Given the description of an element on the screen output the (x, y) to click on. 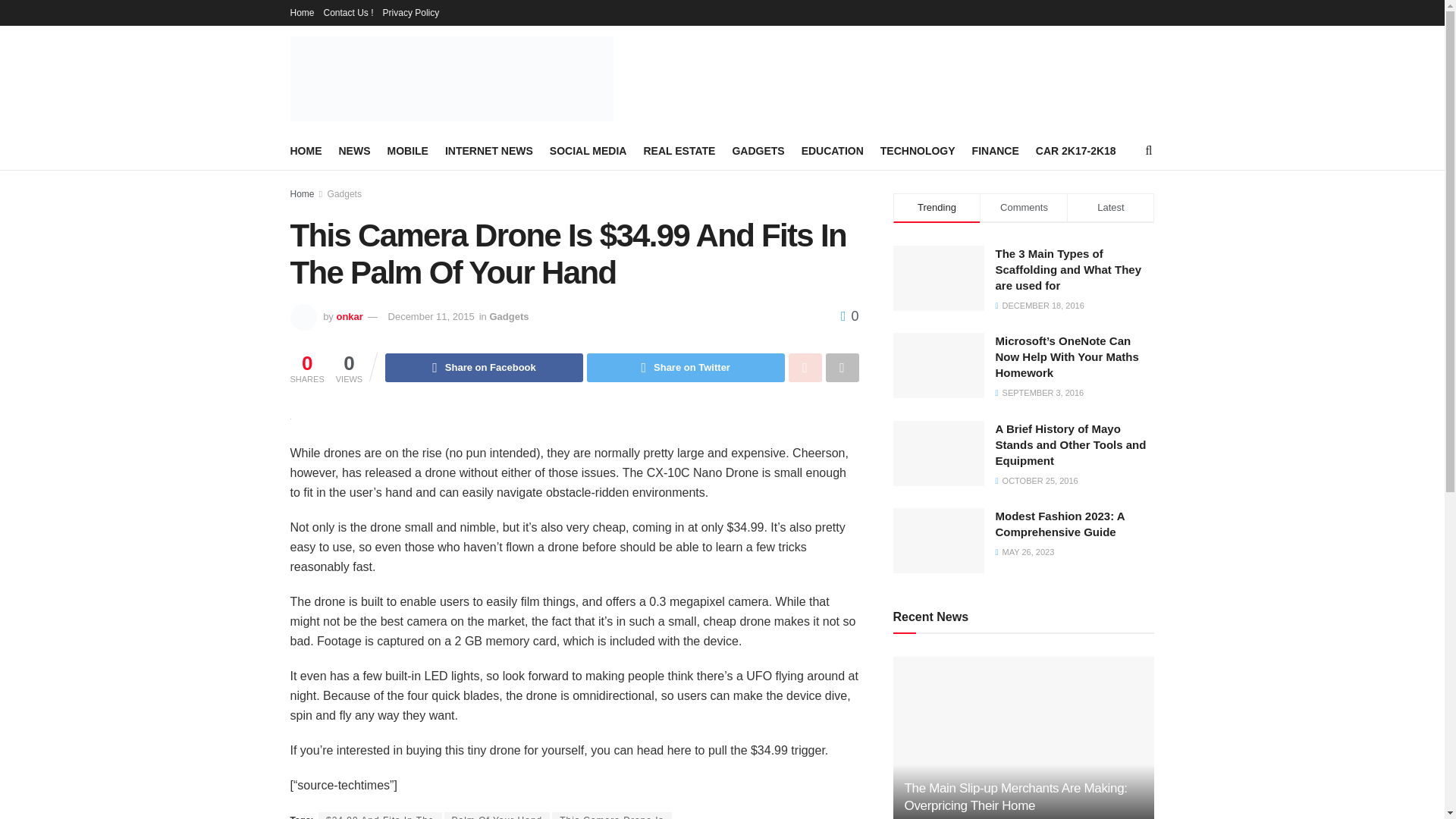
TECHNOLOGY (917, 150)
CAR 2K17-2K18 (1075, 150)
Contact Us ! (348, 12)
REAL ESTATE (678, 150)
FINANCE (995, 150)
Gadgets (508, 316)
GADGETS (758, 150)
NEWS (353, 150)
Home (301, 194)
0 (850, 315)
